Given the description of an element on the screen output the (x, y) to click on. 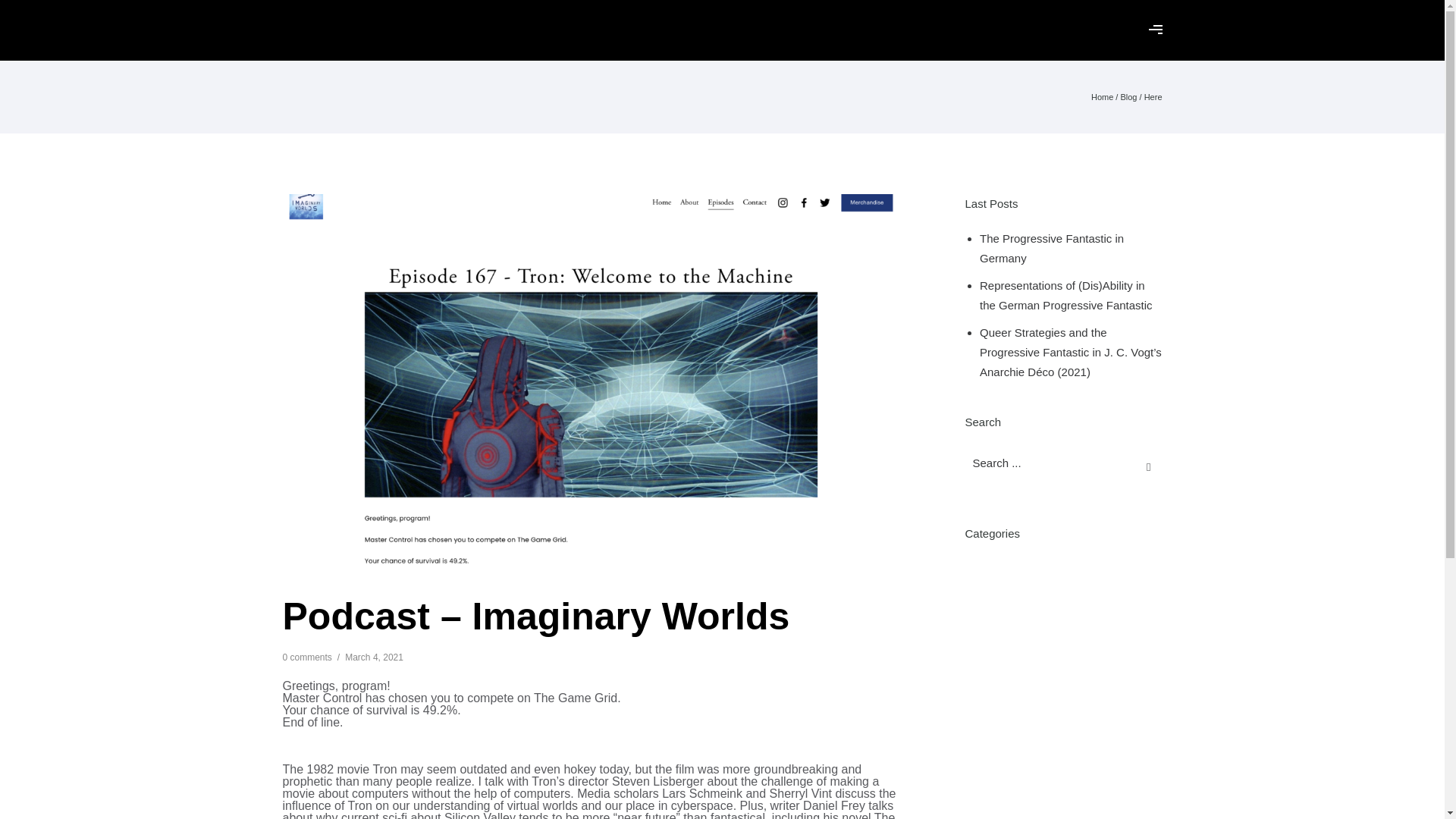
Blog (1128, 96)
Home (1101, 96)
0 comments (306, 656)
The Progressive Fantastic in Germany (1051, 247)
Hamburger Menu Controller (1154, 30)
